Given the description of an element on the screen output the (x, y) to click on. 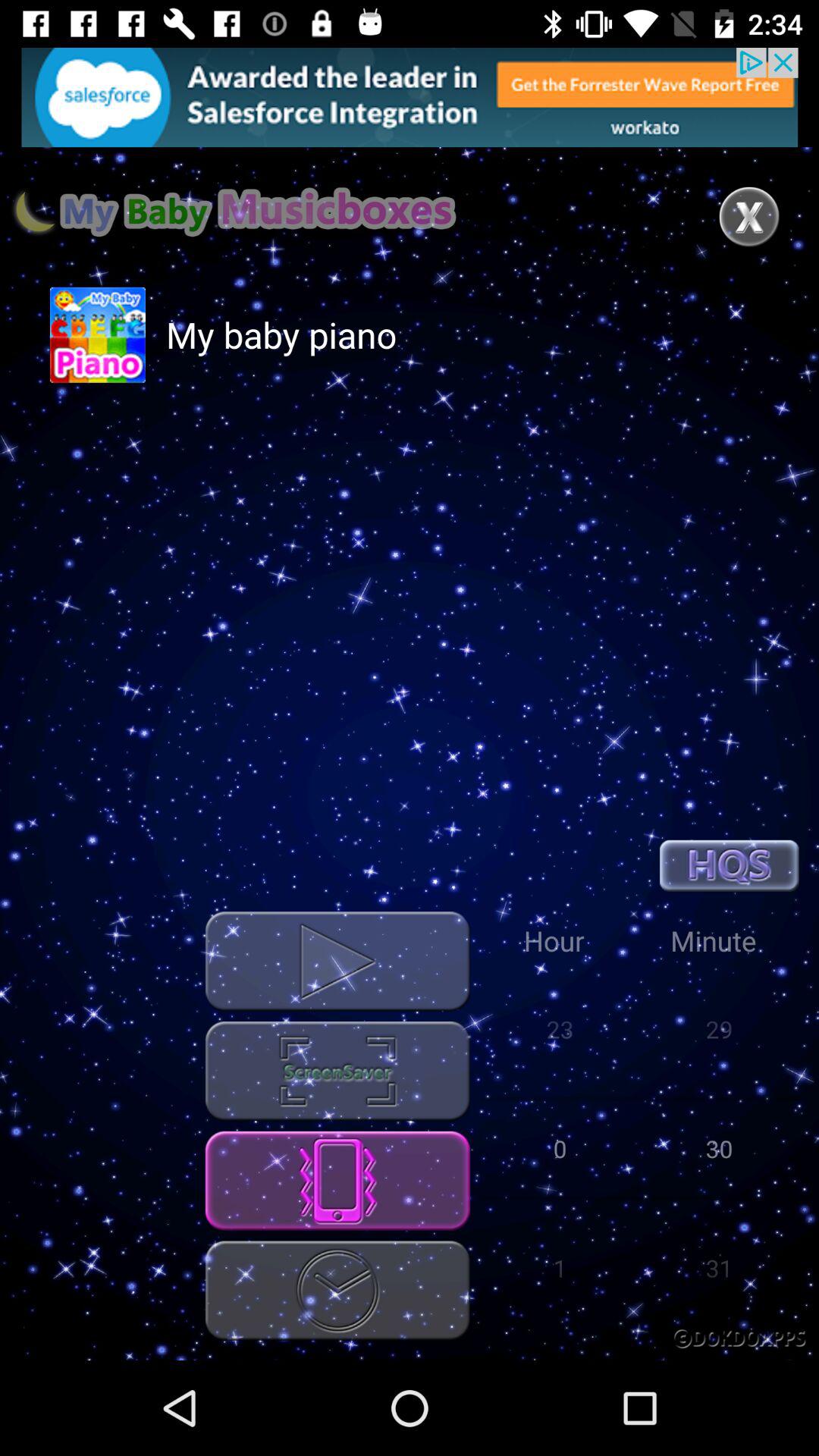
closes selection (749, 216)
